Given the description of an element on the screen output the (x, y) to click on. 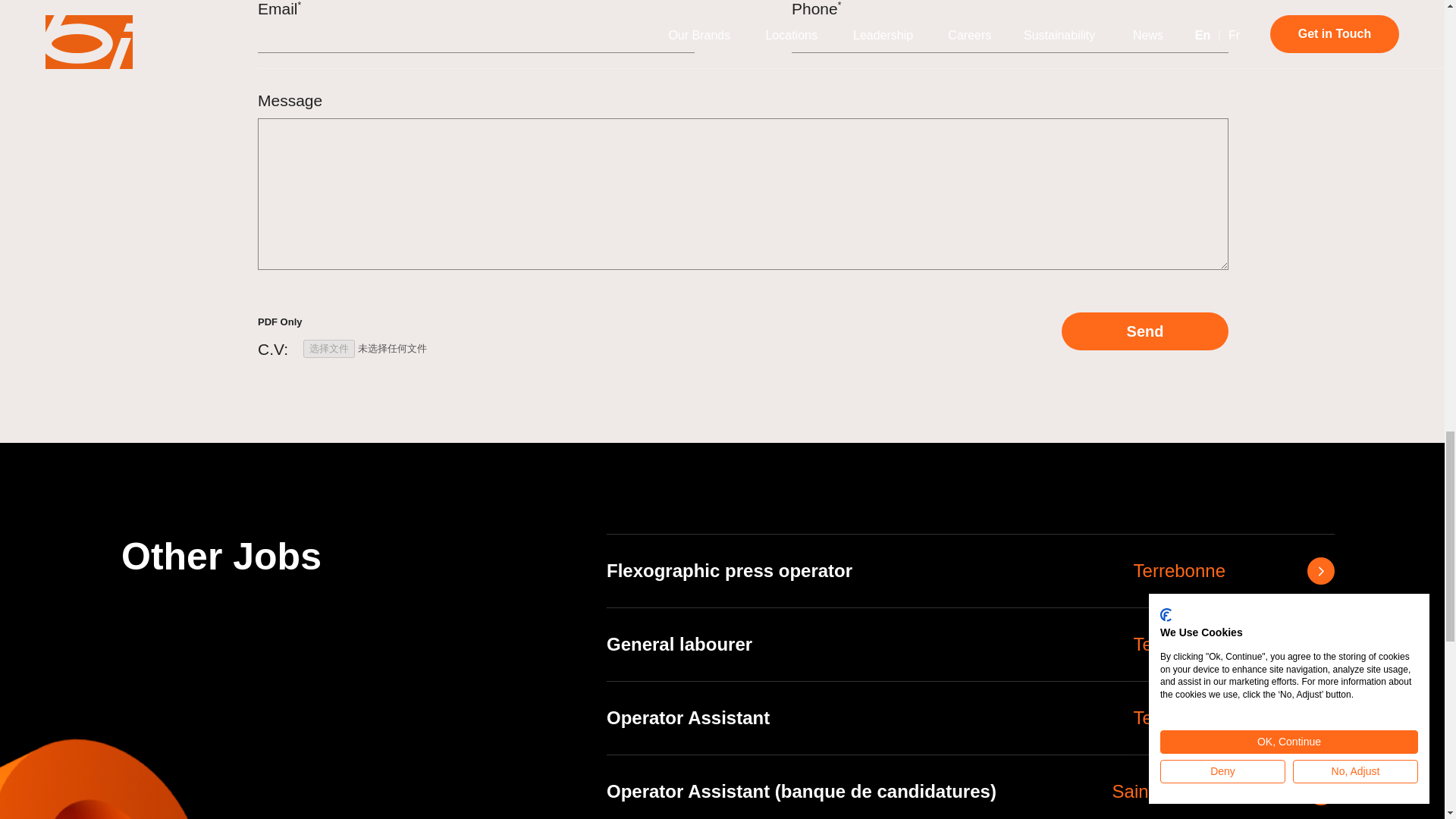
Send (971, 718)
This field accepts numbers only (1144, 331)
